Given the description of an element on the screen output the (x, y) to click on. 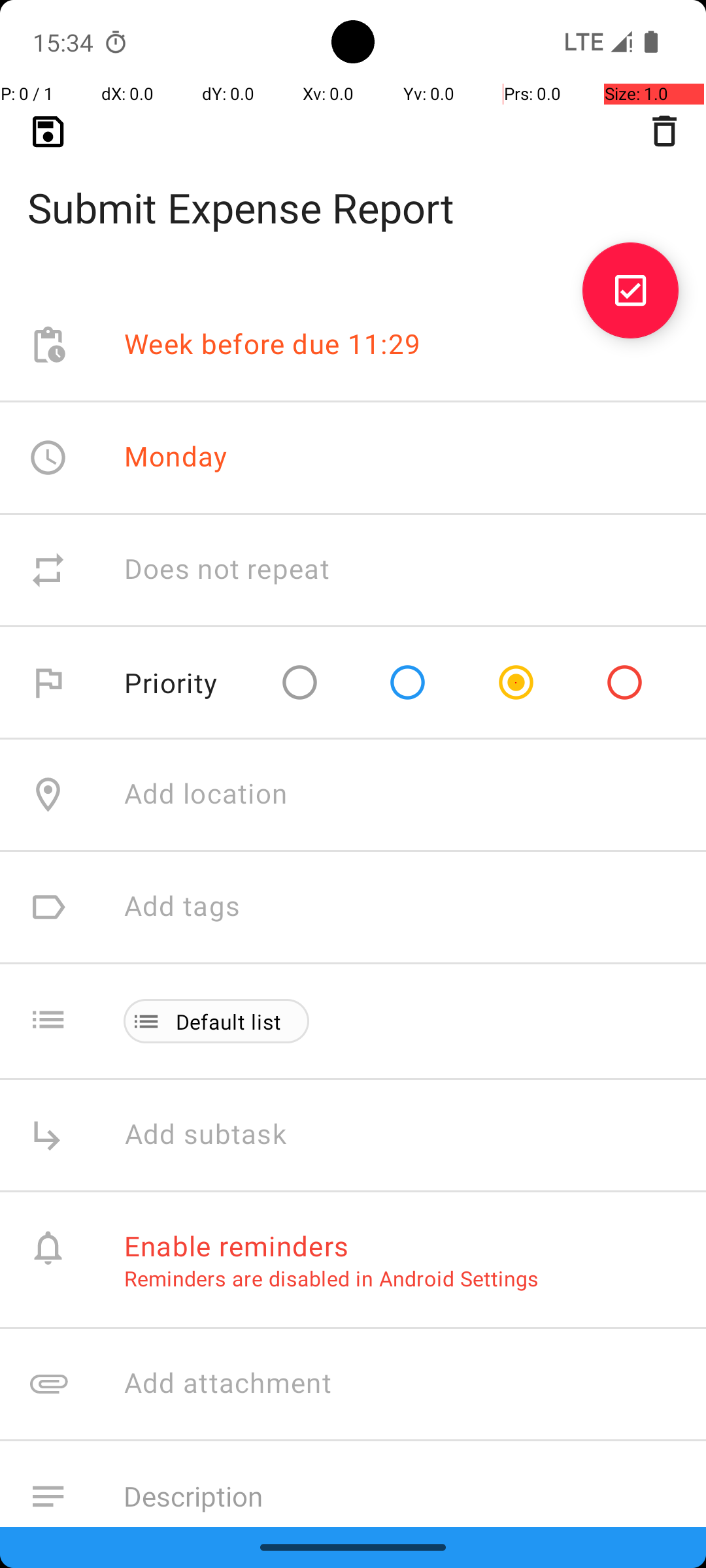
Week before due 11:29 Element type: android.widget.TextView (272, 344)
